Given the description of an element on the screen output the (x, y) to click on. 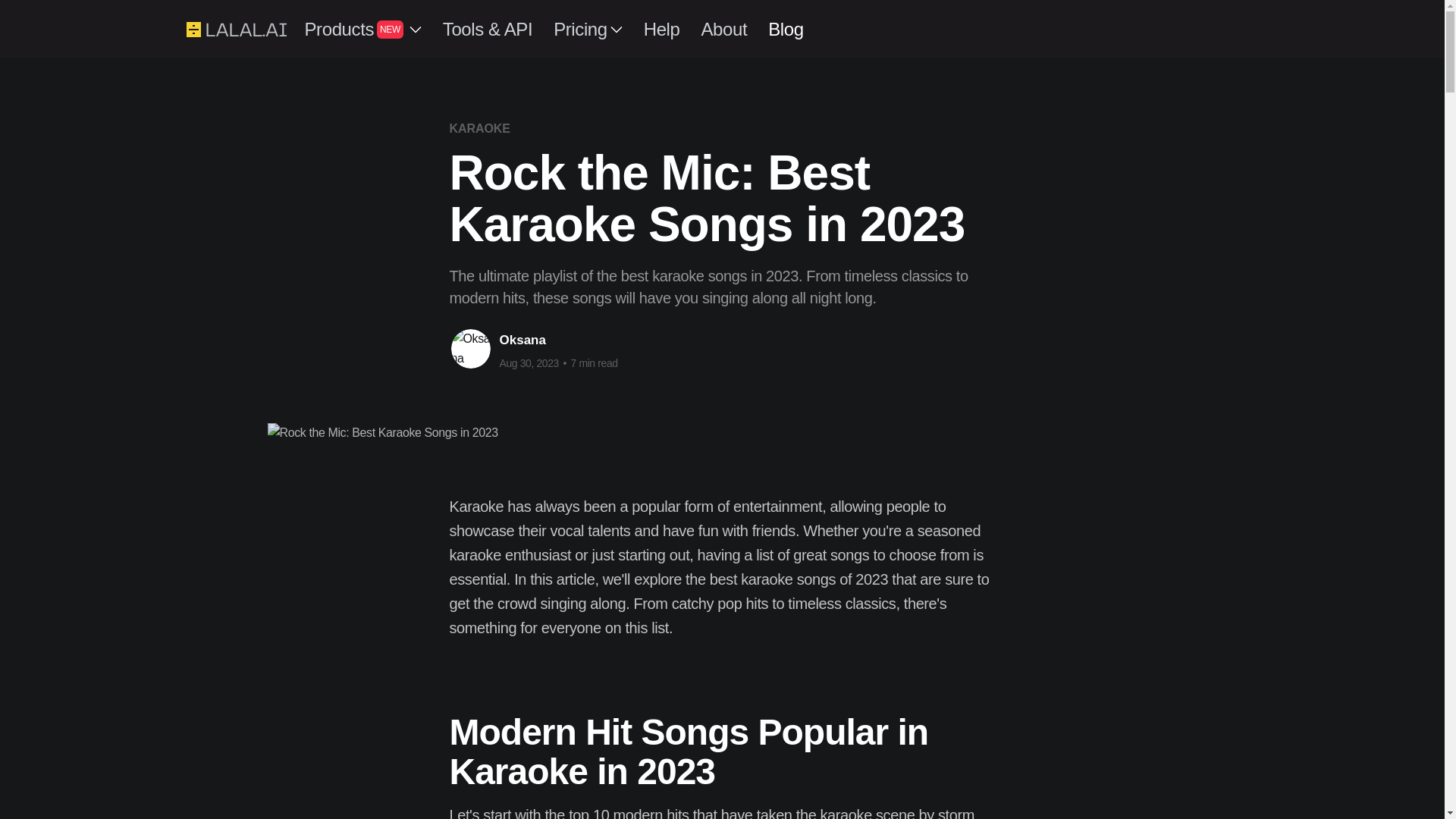
KARAOKE (478, 128)
Help (661, 28)
Blog (785, 28)
Oksana (521, 339)
About (723, 28)
